Given the description of an element on the screen output the (x, y) to click on. 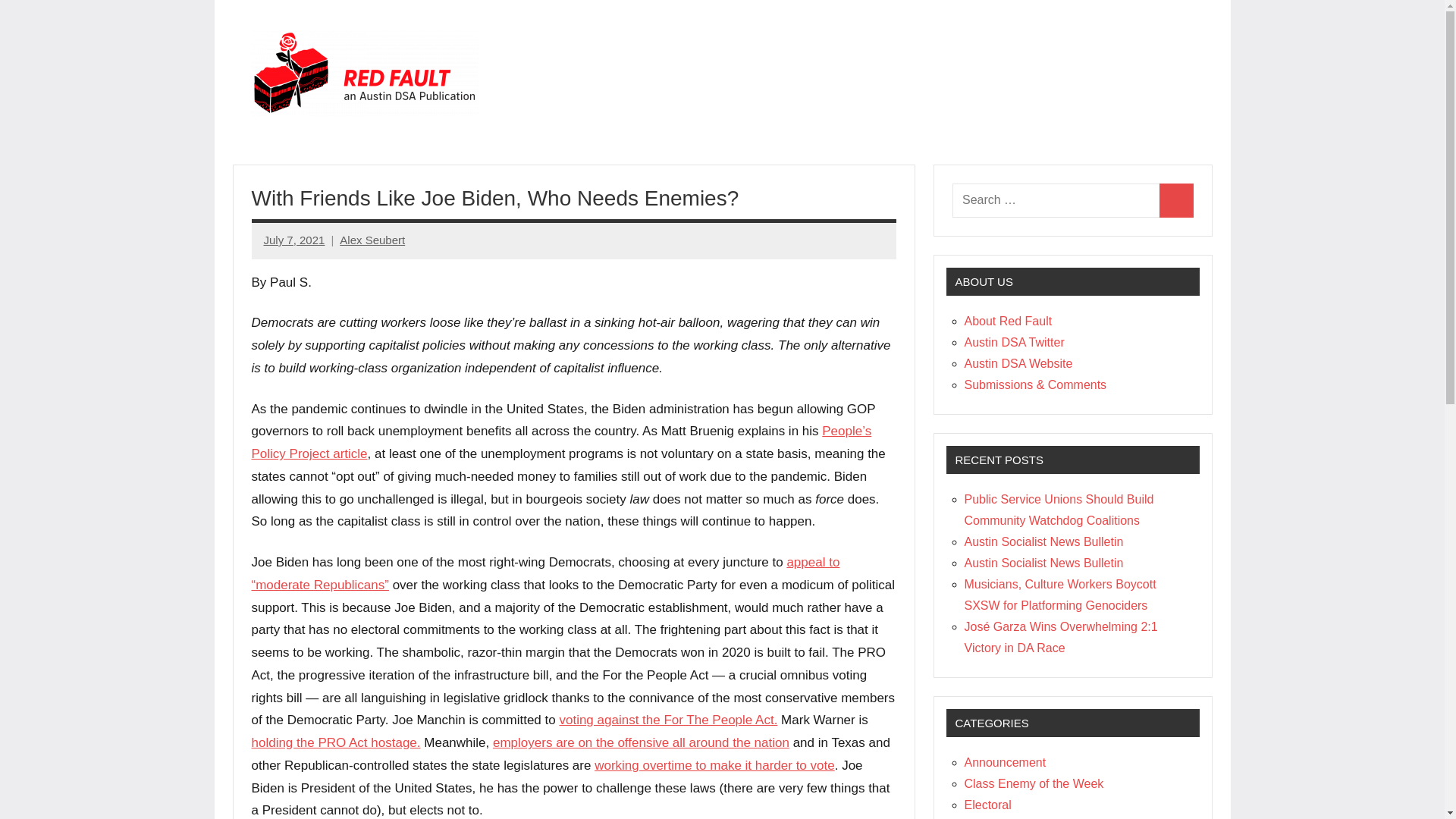
Electoral (987, 804)
employers are on the offensive all around the nation (641, 742)
Announcement (1004, 762)
July 7, 2021 (293, 239)
Class Enemy of the Week (1033, 783)
Austin DSA Website (1018, 363)
Austin DSA Twitter (1013, 341)
voting against the For The People Act. (668, 719)
working overtime to make it harder to vote (714, 765)
Austin Socialist News Bulletin (1043, 562)
View all posts by Alex Seubert (371, 239)
holding the PRO Act hostage. (335, 742)
Alex Seubert (371, 239)
Search for: (1056, 200)
